Given the description of an element on the screen output the (x, y) to click on. 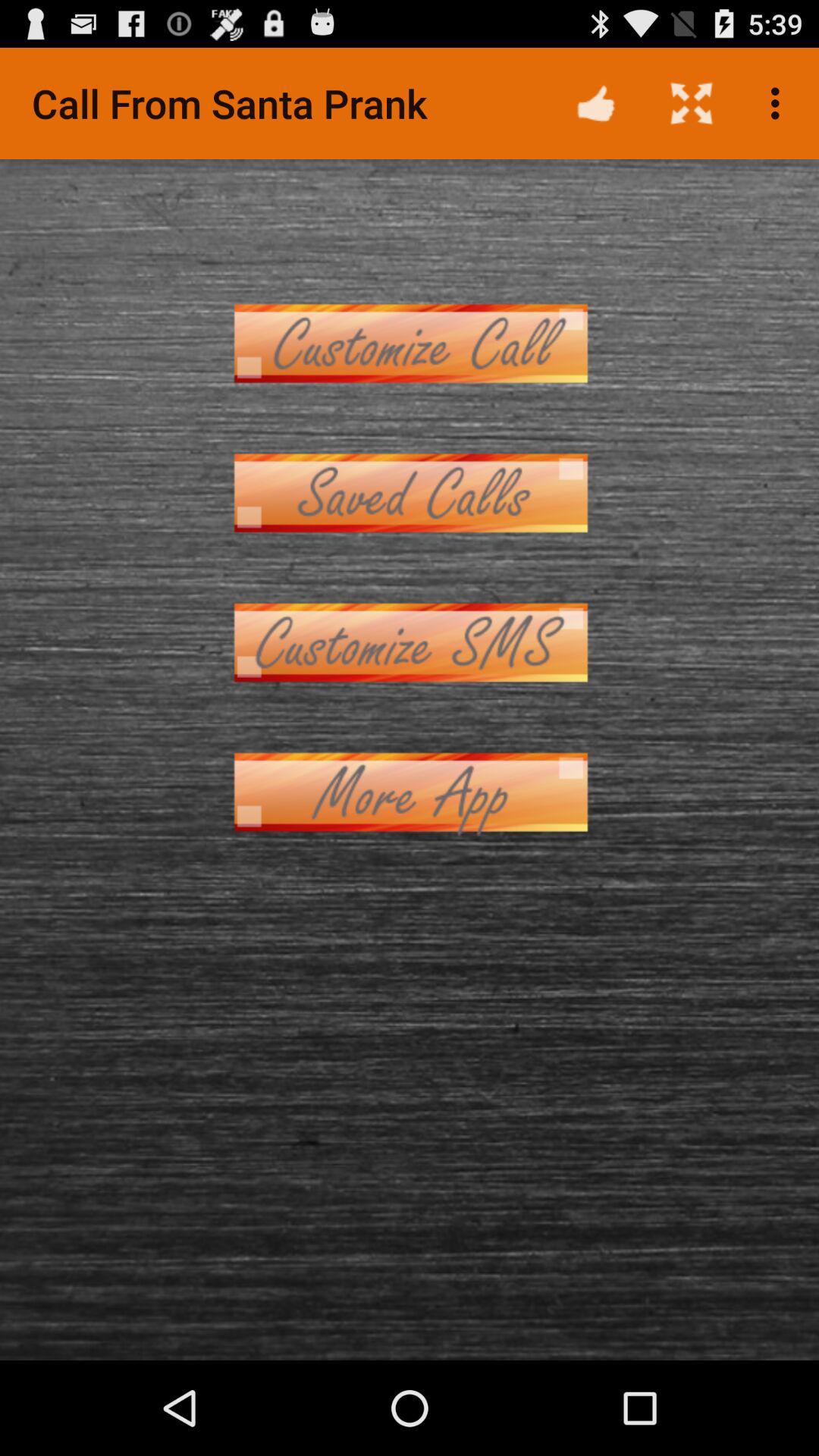
turn on icon to the right of call from santa app (595, 103)
